Given the description of an element on the screen output the (x, y) to click on. 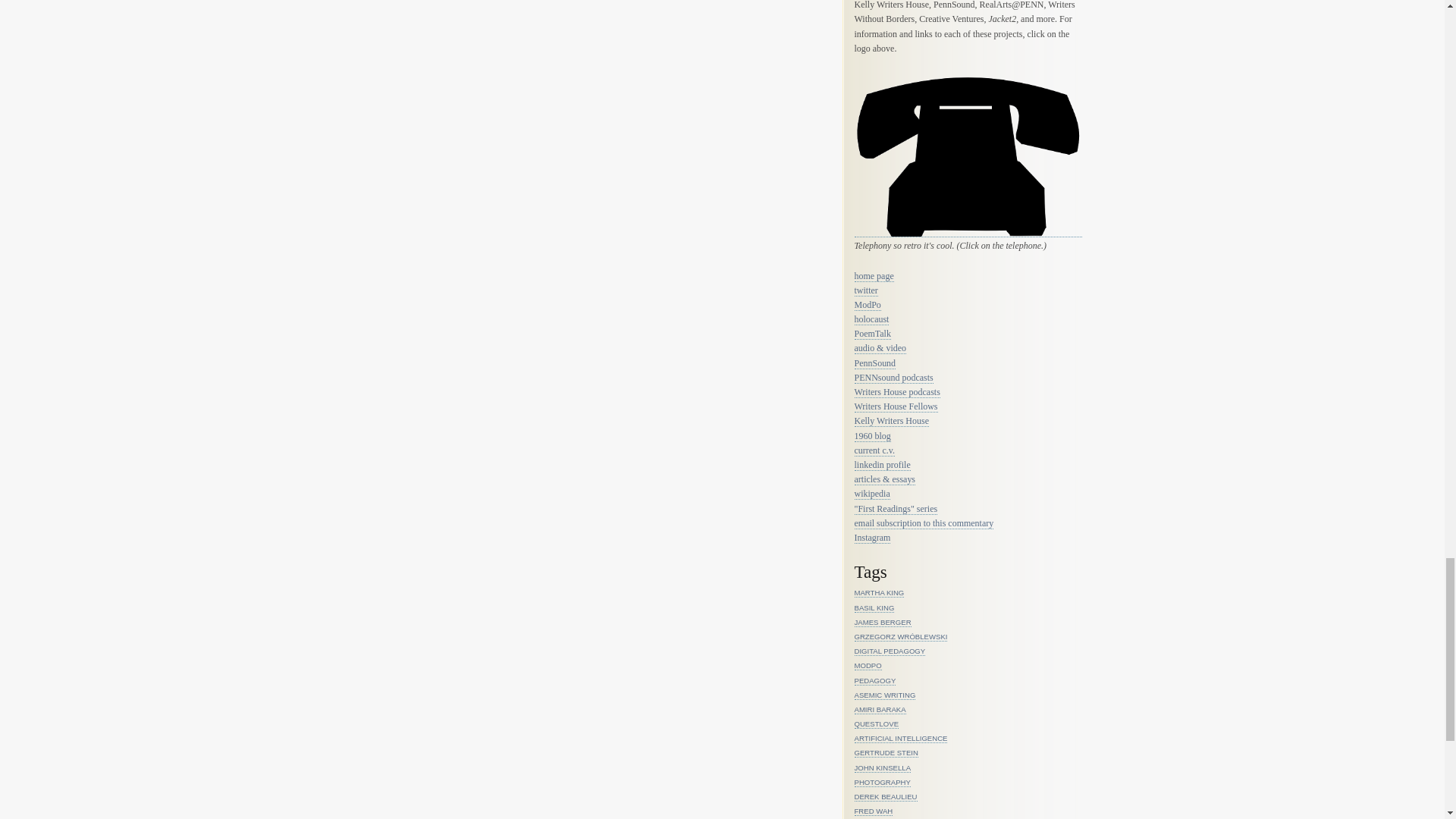
twitter (865, 290)
holocaust (870, 319)
home page (873, 276)
ModPo (866, 305)
